Given the description of an element on the screen output the (x, y) to click on. 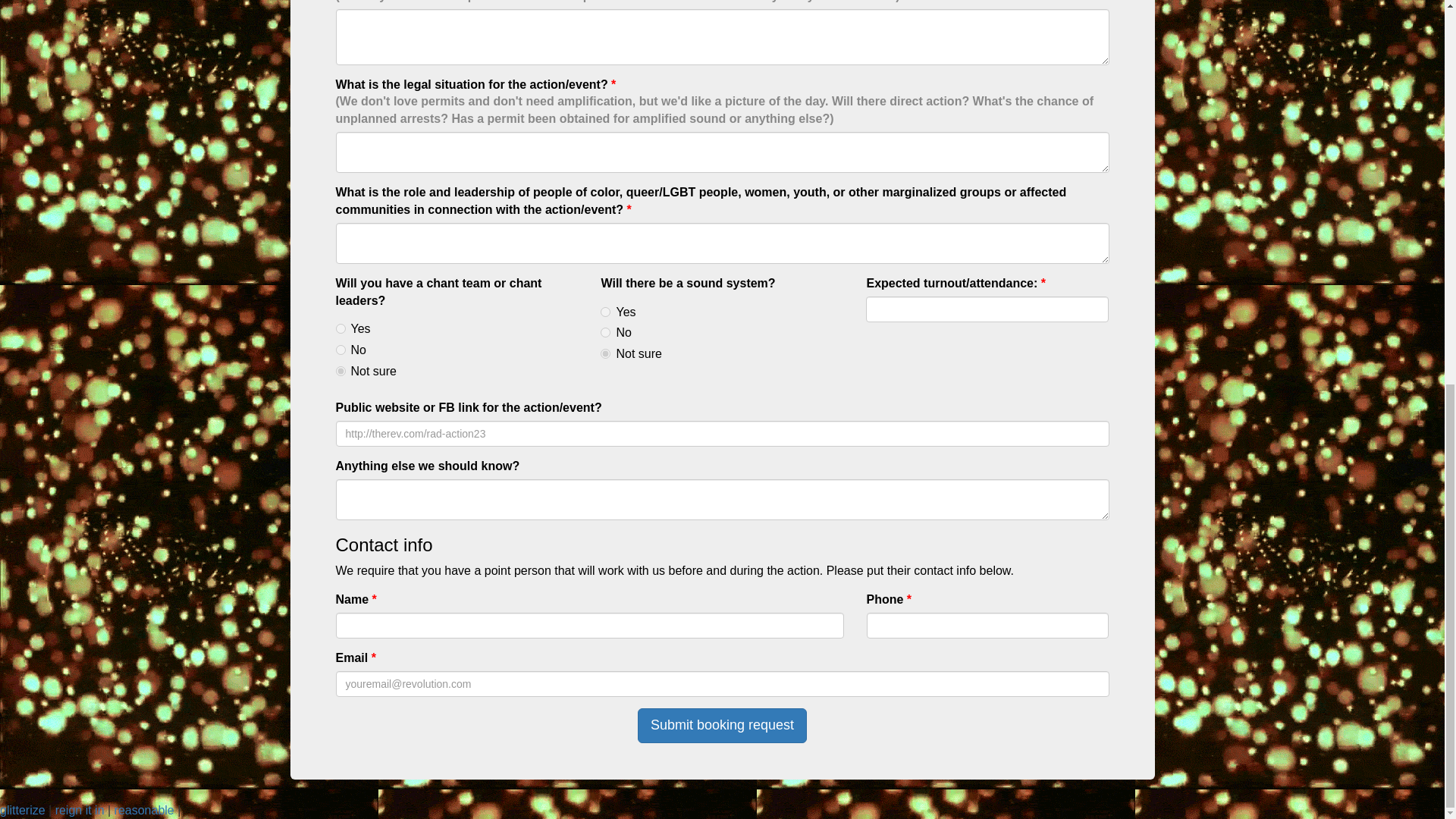
reign it in (79, 809)
no (339, 349)
reasonable (144, 809)
no (604, 332)
glitterize (22, 809)
yes (604, 311)
not sure (604, 353)
Submit booking request (721, 725)
Submit booking request (721, 725)
yes (339, 328)
not sure (339, 370)
